Given the description of an element on the screen output the (x, y) to click on. 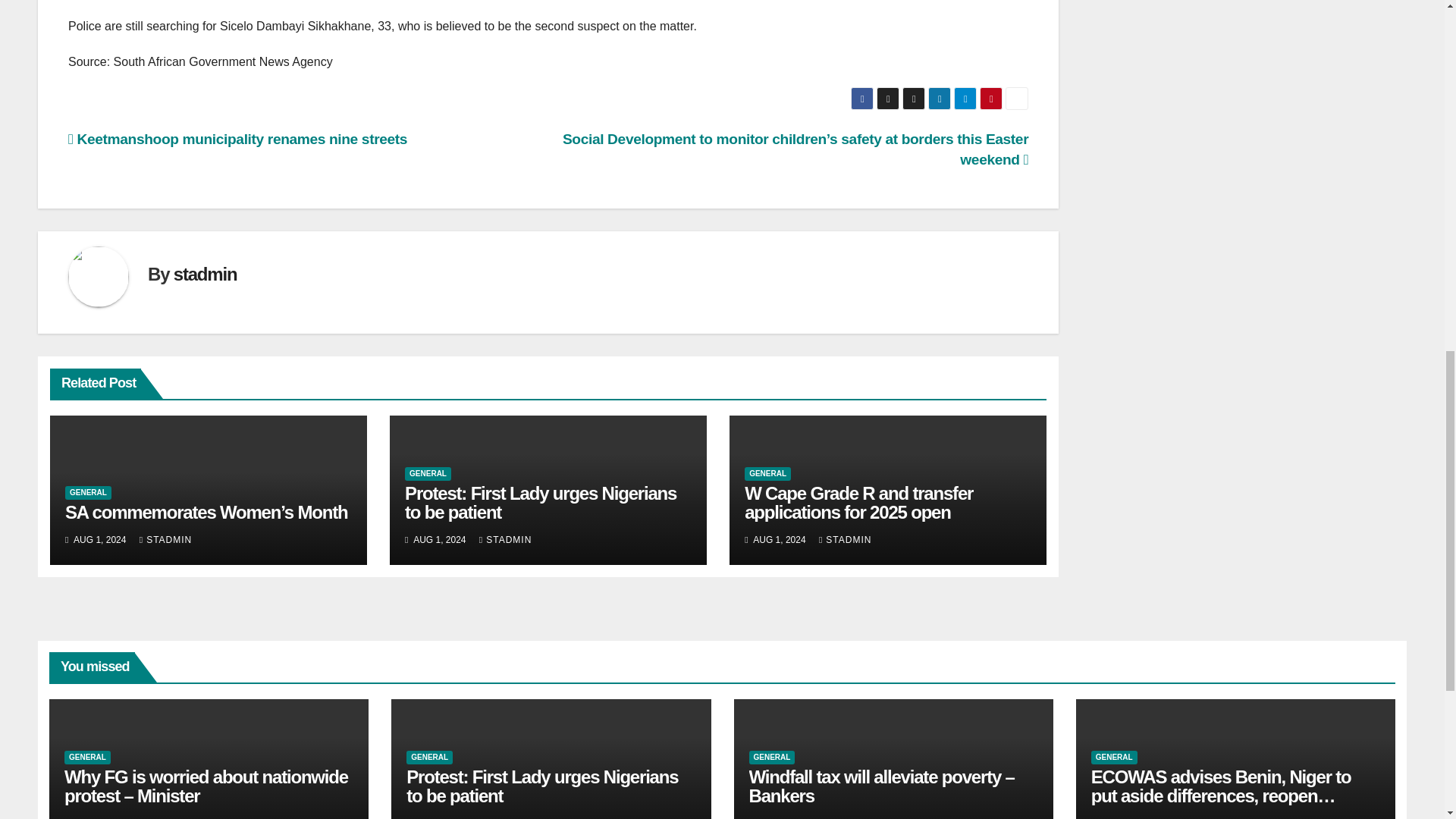
Keetmanshoop municipality renames nine streets (237, 139)
stadmin (205, 273)
GENERAL (88, 492)
